Given the description of an element on the screen output the (x, y) to click on. 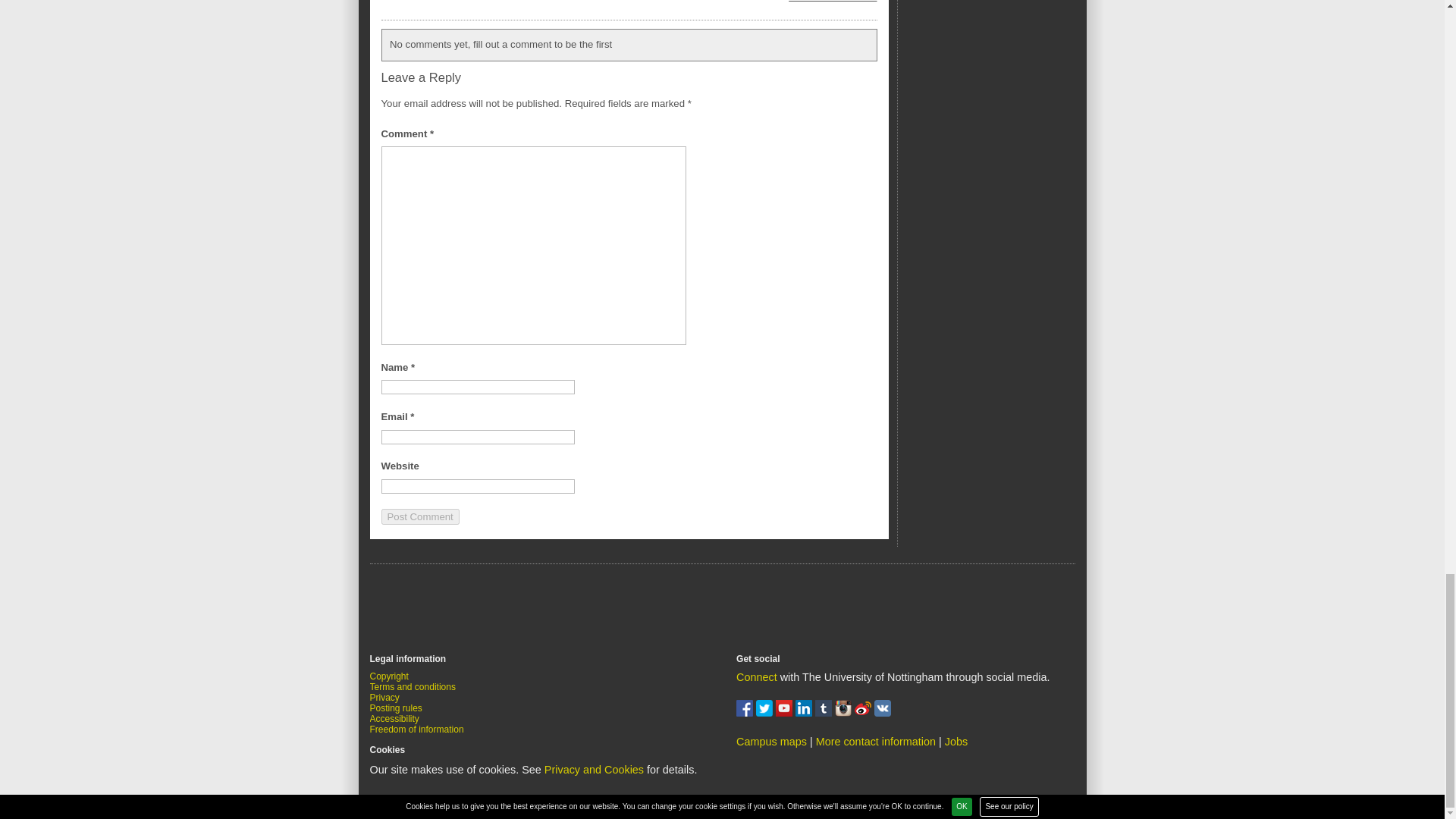
Privacy (383, 697)
Copyright  (389, 675)
Accessibility (394, 718)
Join us on Linked in (804, 712)
Freedom of information (416, 728)
Watch us on You Tube (785, 712)
Get Social with The University of Nottingham (756, 676)
Follow us on twitter (765, 712)
Find us on facebook (745, 712)
Post Comment (419, 516)
